Given the description of an element on the screen output the (x, y) to click on. 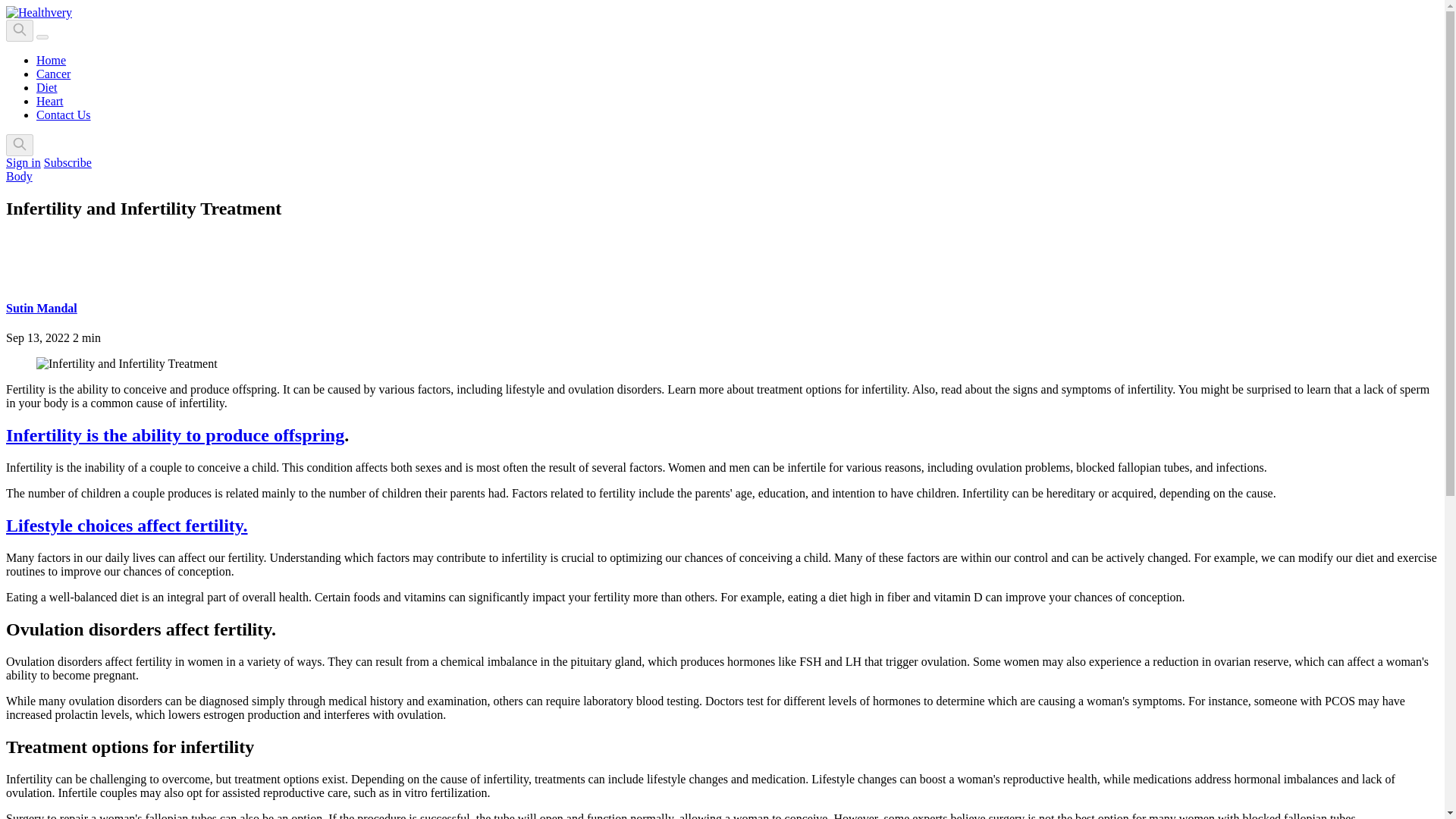
Home (50, 60)
Cancer (52, 73)
Diet (47, 87)
Contact Us (63, 114)
Heart (50, 101)
Infertility is the ability to produce offspring (174, 435)
Sign in (22, 162)
Body (18, 175)
Subscribe (67, 162)
Sutin Mandal (41, 308)
Lifestyle choices affect fertility. (126, 525)
